Given the description of an element on the screen output the (x, y) to click on. 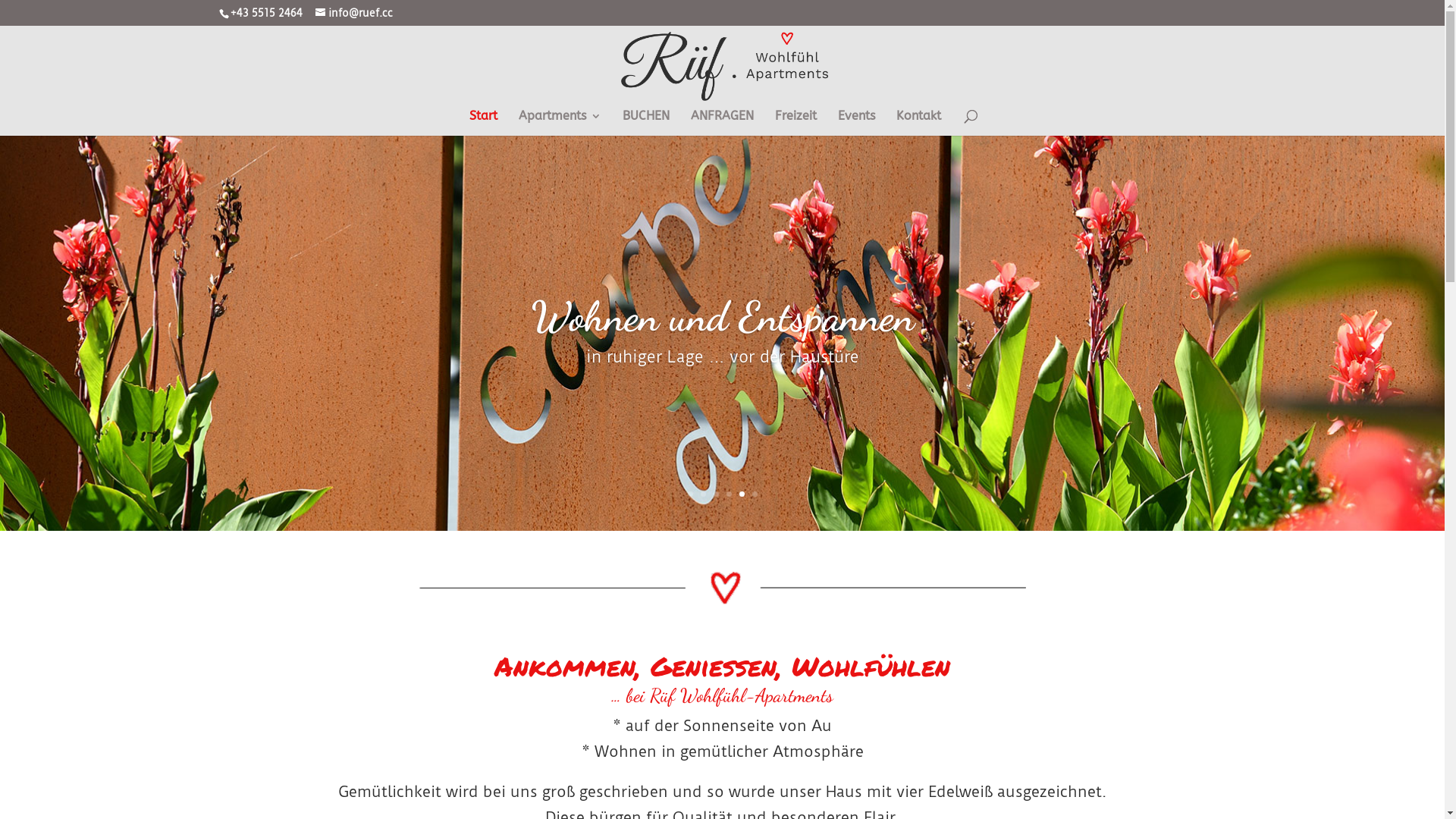
Kontakt Element type: text (918, 122)
Start Element type: text (482, 122)
Apartments Element type: text (559, 122)
Trenner_v4 Element type: hover (721, 587)
2 Element type: text (703, 493)
4 Element type: text (728, 493)
3 Element type: text (715, 493)
5 Element type: text (740, 493)
ANFRAGEN Element type: text (721, 122)
Freizeit Element type: text (795, 122)
1 Element type: text (689, 493)
6 Element type: text (754, 493)
Events Element type: text (855, 122)
BUCHEN Element type: text (644, 122)
info@ruef.cc Element type: text (353, 12)
